Given the description of an element on the screen output the (x, y) to click on. 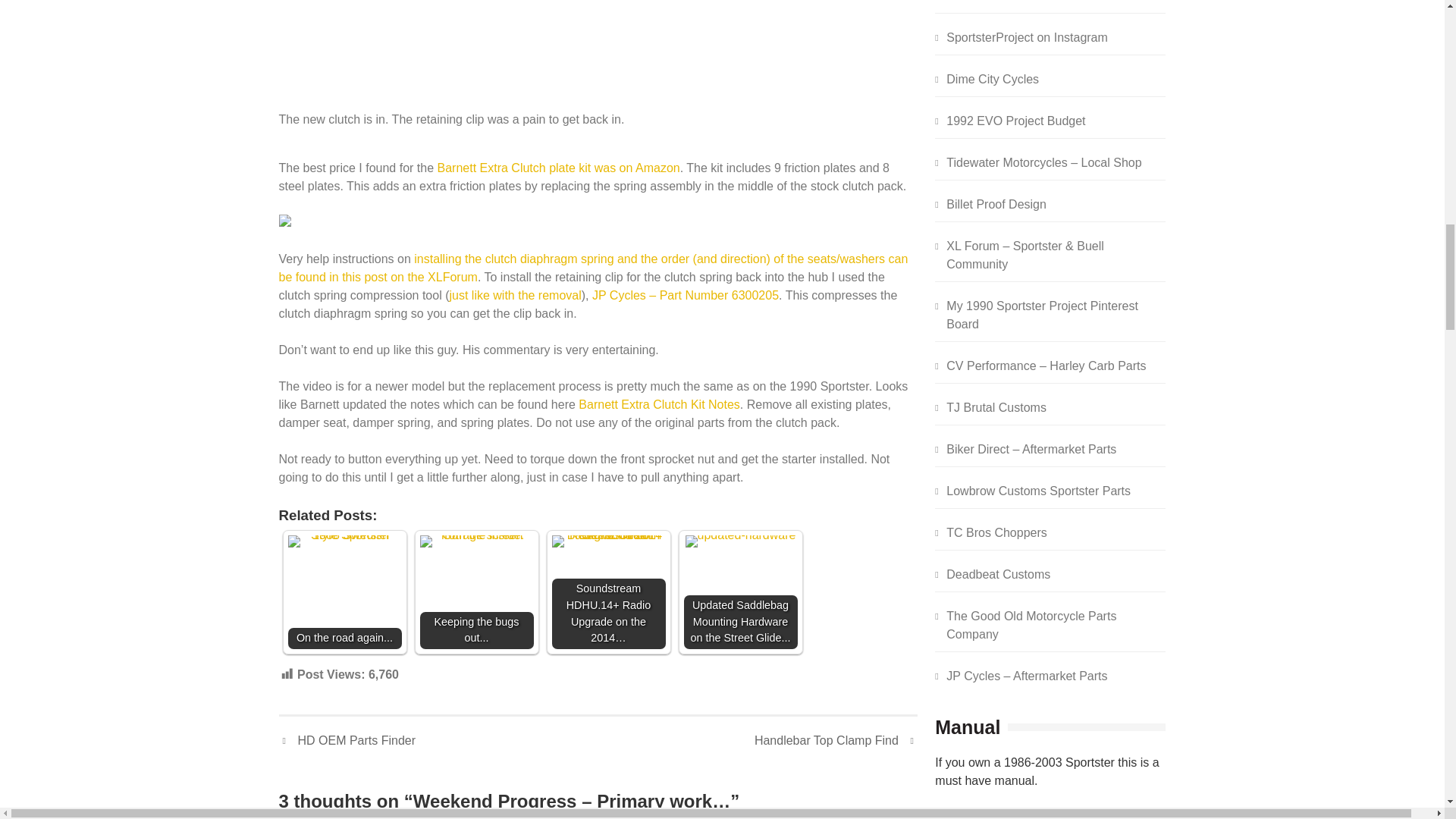
Updated Saddlebag Mounting Hardware on the Street Glide... (740, 541)
On the road again... (344, 541)
Keeping the bugs out... (477, 541)
